Given the description of an element on the screen output the (x, y) to click on. 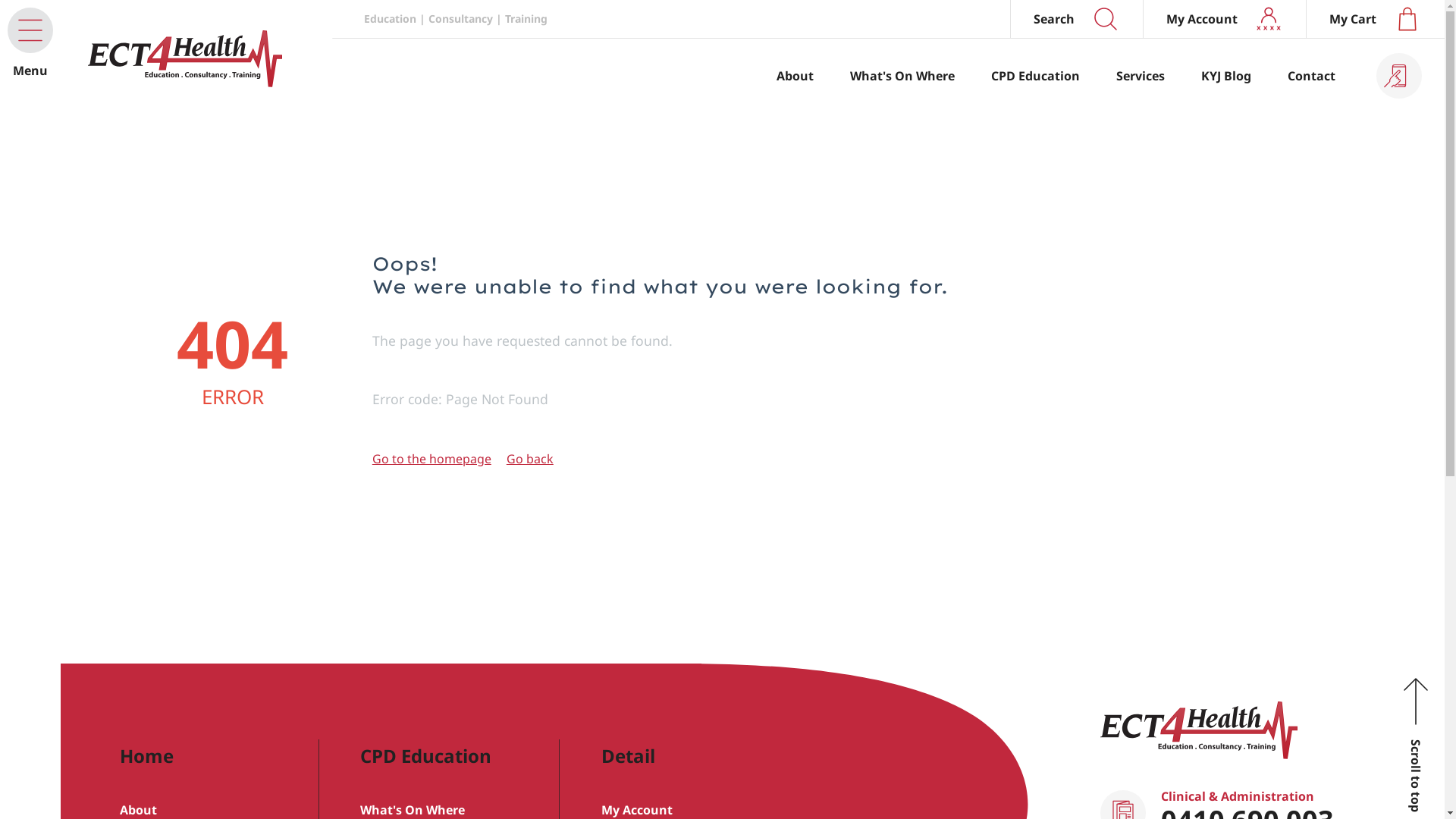
What's On Where Element type: text (901, 75)
My Cart Element type: text (1374, 18)
Scroll to top Element type: text (1415, 701)
Go to the homepage Element type: text (431, 458)
Menu Element type: text (30, 30)
ECT4Health Element type: hover (1197, 747)
Services Element type: text (1140, 75)
KYJ Blog Element type: text (1226, 75)
About Element type: text (794, 75)
Go back Element type: text (529, 458)
Contact Element type: text (1311, 75)
CPD Education Element type: text (1035, 75)
Search Element type: text (1076, 18)
My Account Element type: text (1223, 18)
